Given the description of an element on the screen output the (x, y) to click on. 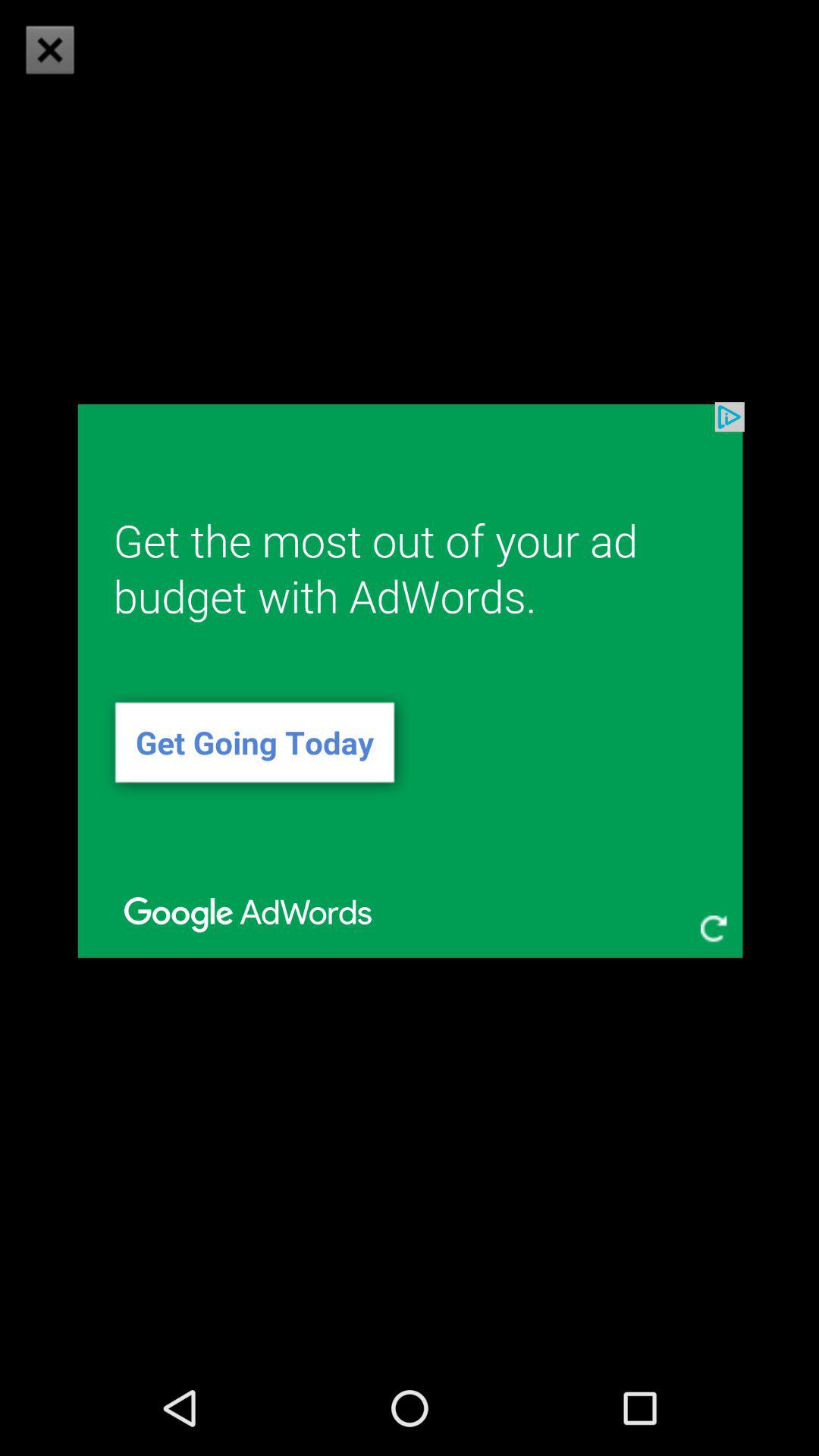
choose the item at the center (409, 680)
